Given the description of an element on the screen output the (x, y) to click on. 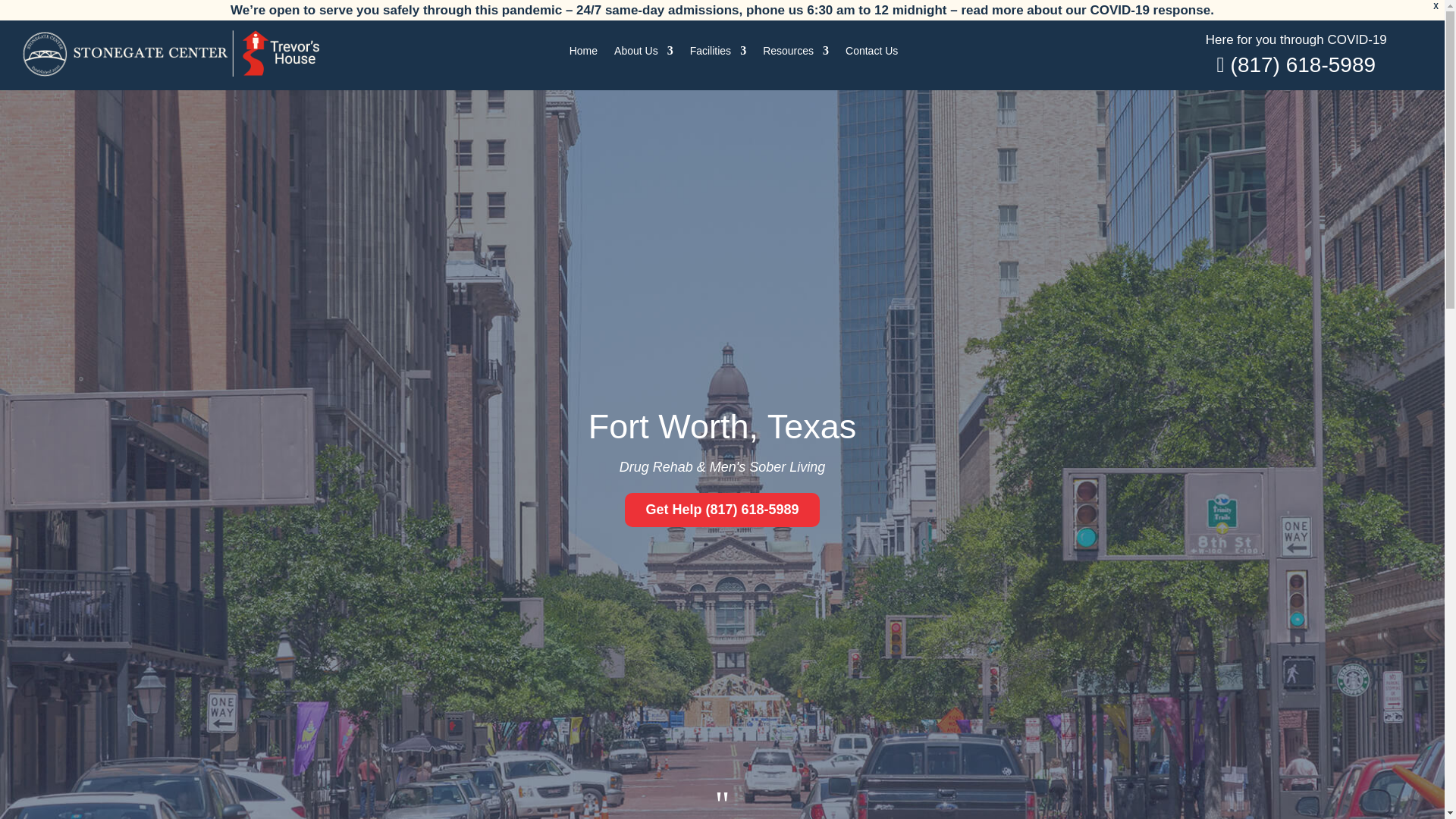
Facilities (717, 53)
Resources (795, 53)
About Us (643, 53)
Home (582, 53)
Contact Us (871, 53)
